Given the description of an element on the screen output the (x, y) to click on. 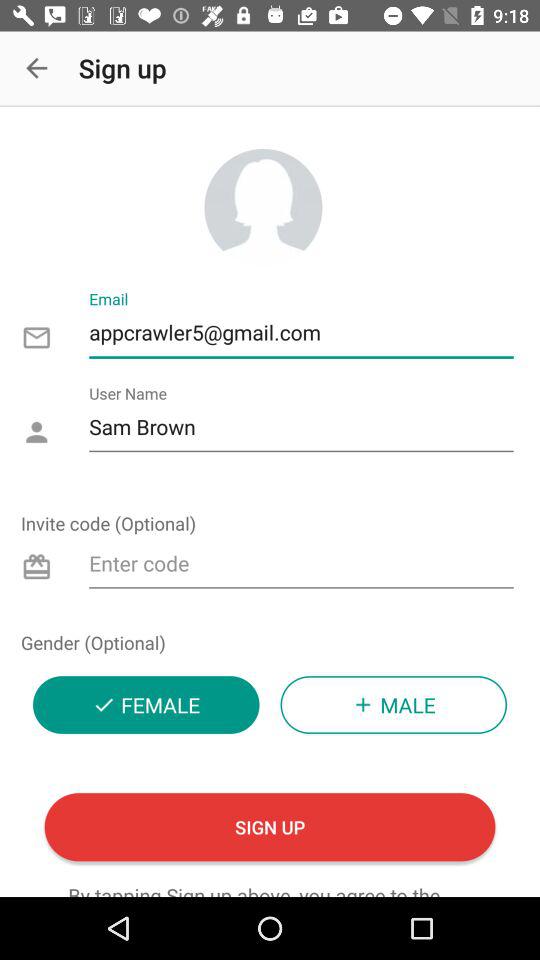
go to code (301, 566)
